Given the description of an element on the screen output the (x, y) to click on. 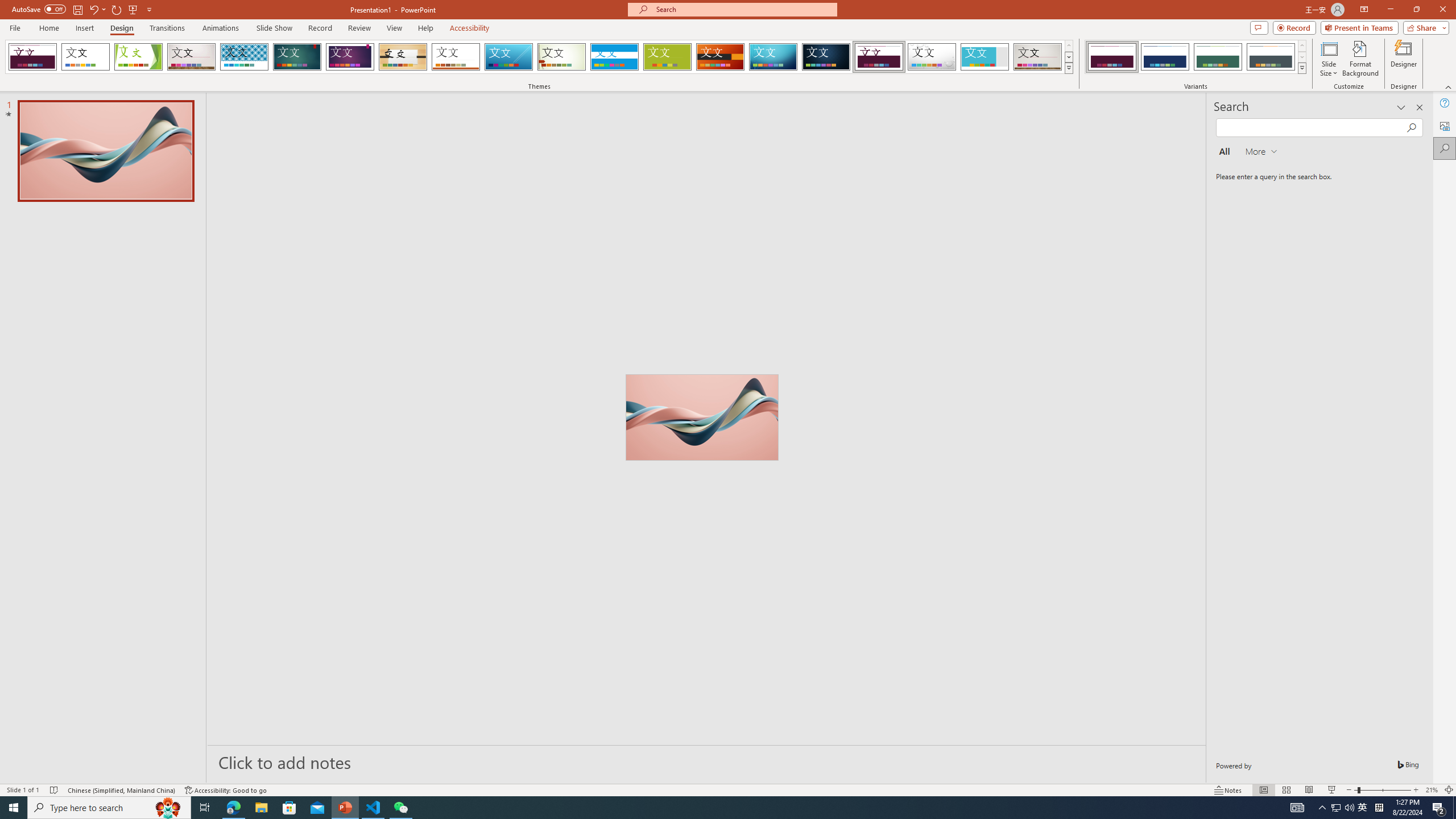
Ion Boardroom (350, 56)
Berlin (720, 56)
Variants (1301, 67)
Facet (138, 56)
